Given the description of an element on the screen output the (x, y) to click on. 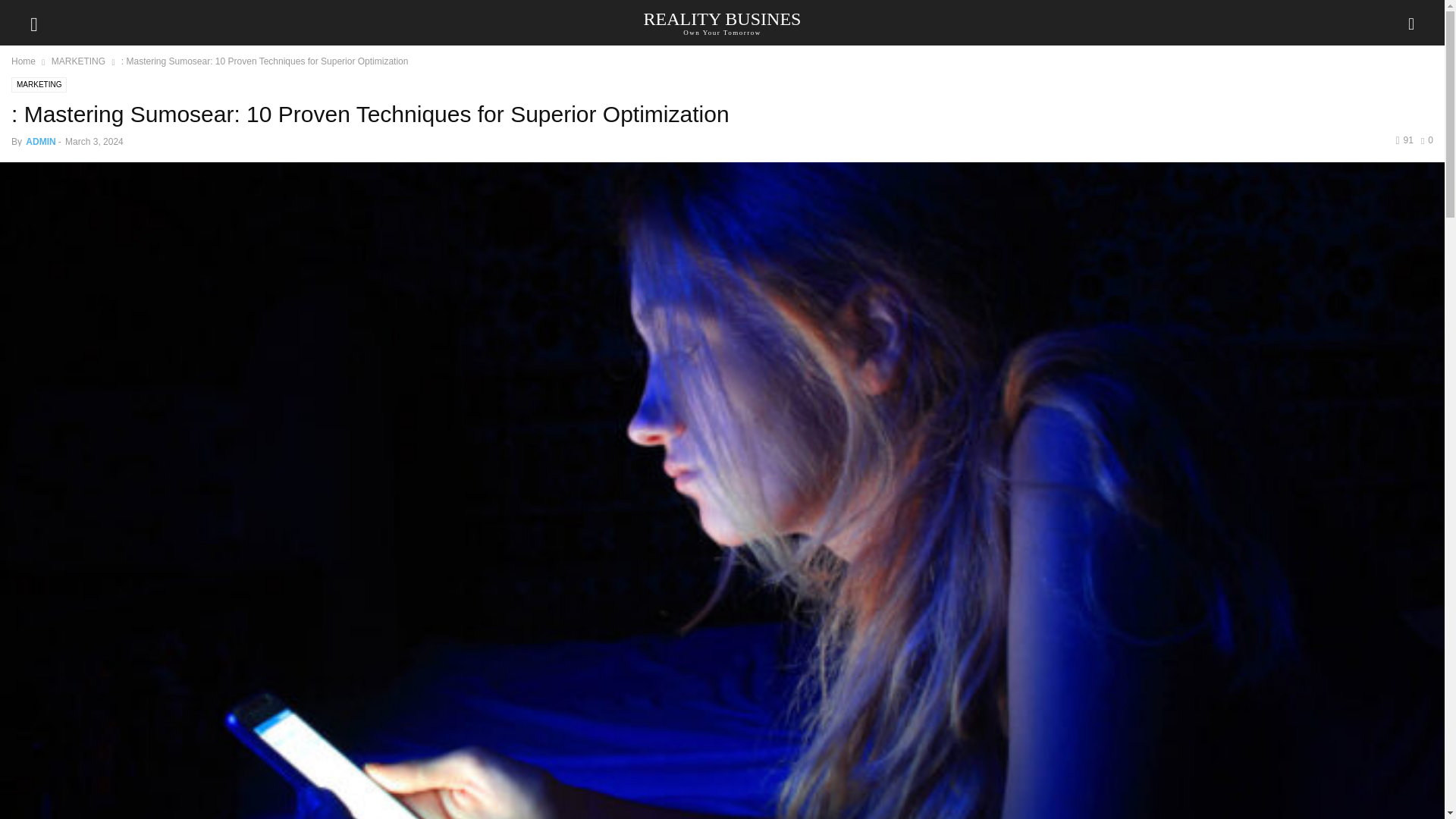
MARKETING (38, 84)
Search (26, 11)
MARKETING (722, 22)
ADMIN (77, 61)
Home (40, 141)
0 (22, 61)
View all posts in MARKETING (1426, 140)
